Given the description of an element on the screen output the (x, y) to click on. 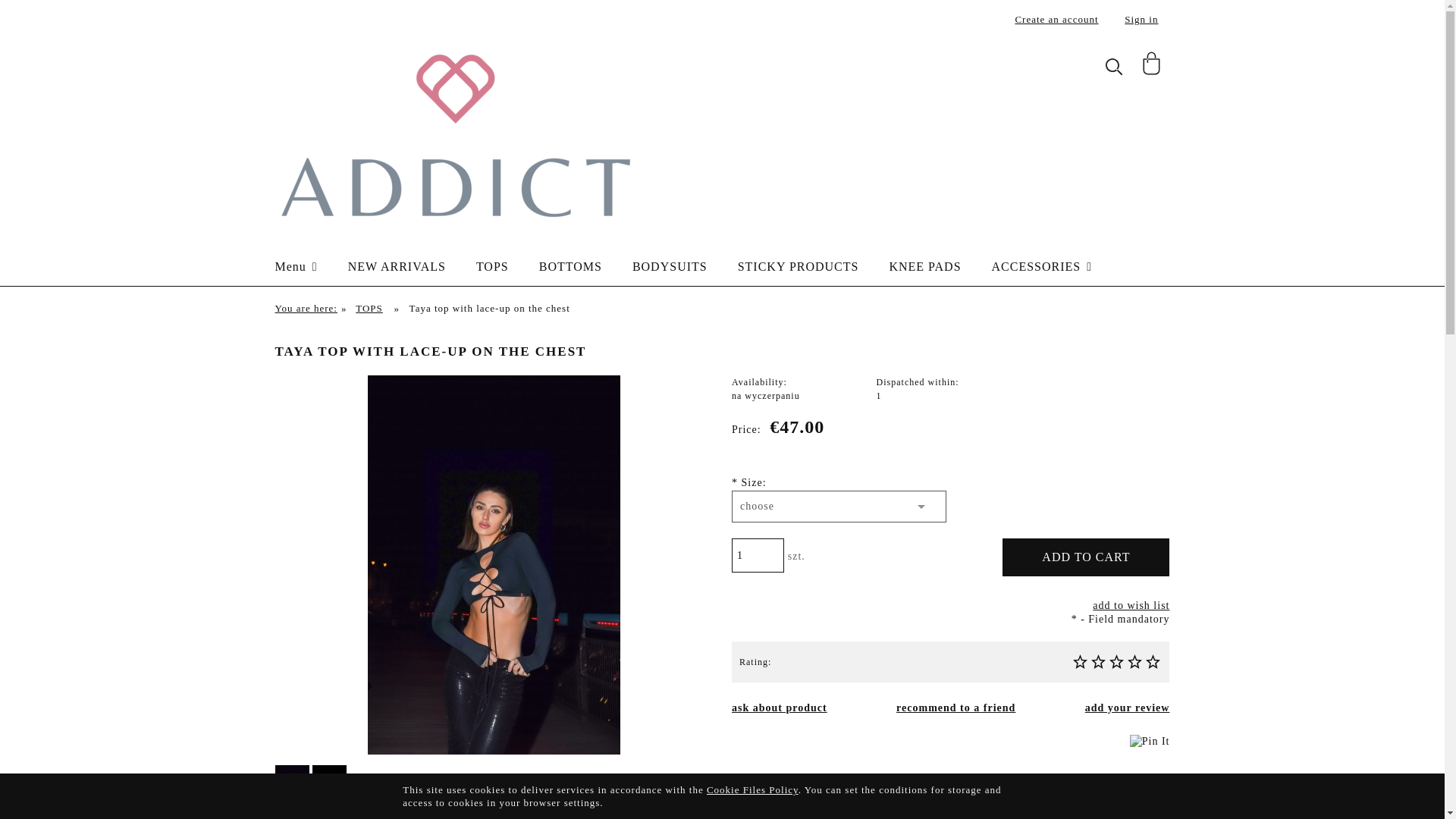
Sign in (1140, 19)
Create an account (1055, 19)
Home page (454, 132)
1 (758, 555)
Menu (311, 266)
Cart (1152, 69)
Sign in (1140, 19)
Create an account (1055, 19)
Menu (311, 266)
Cookie Files Policy (751, 789)
